Given the description of an element on the screen output the (x, y) to click on. 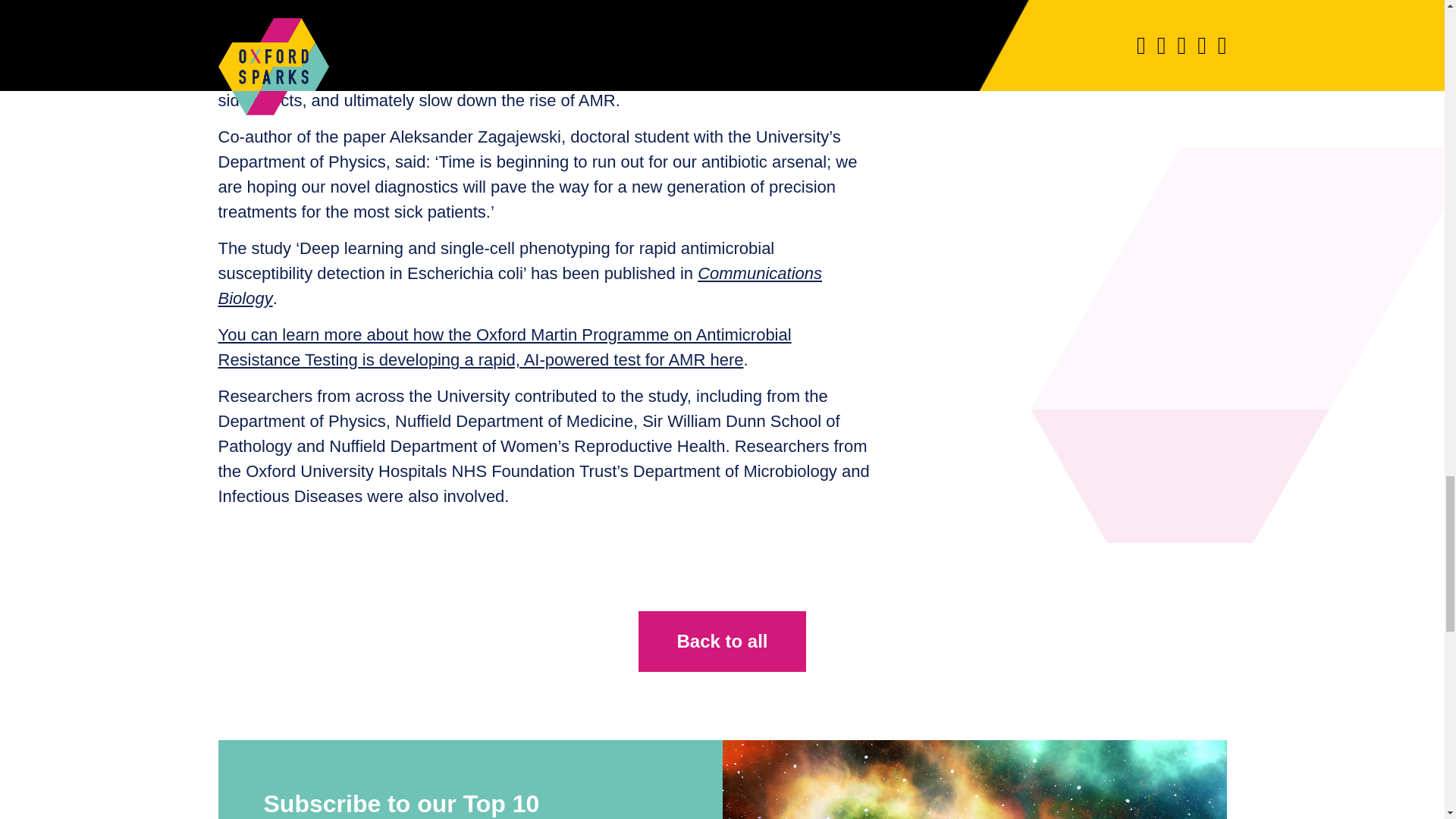
Communications Biology (520, 285)
Back to all (722, 640)
